Given the description of an element on the screen output the (x, y) to click on. 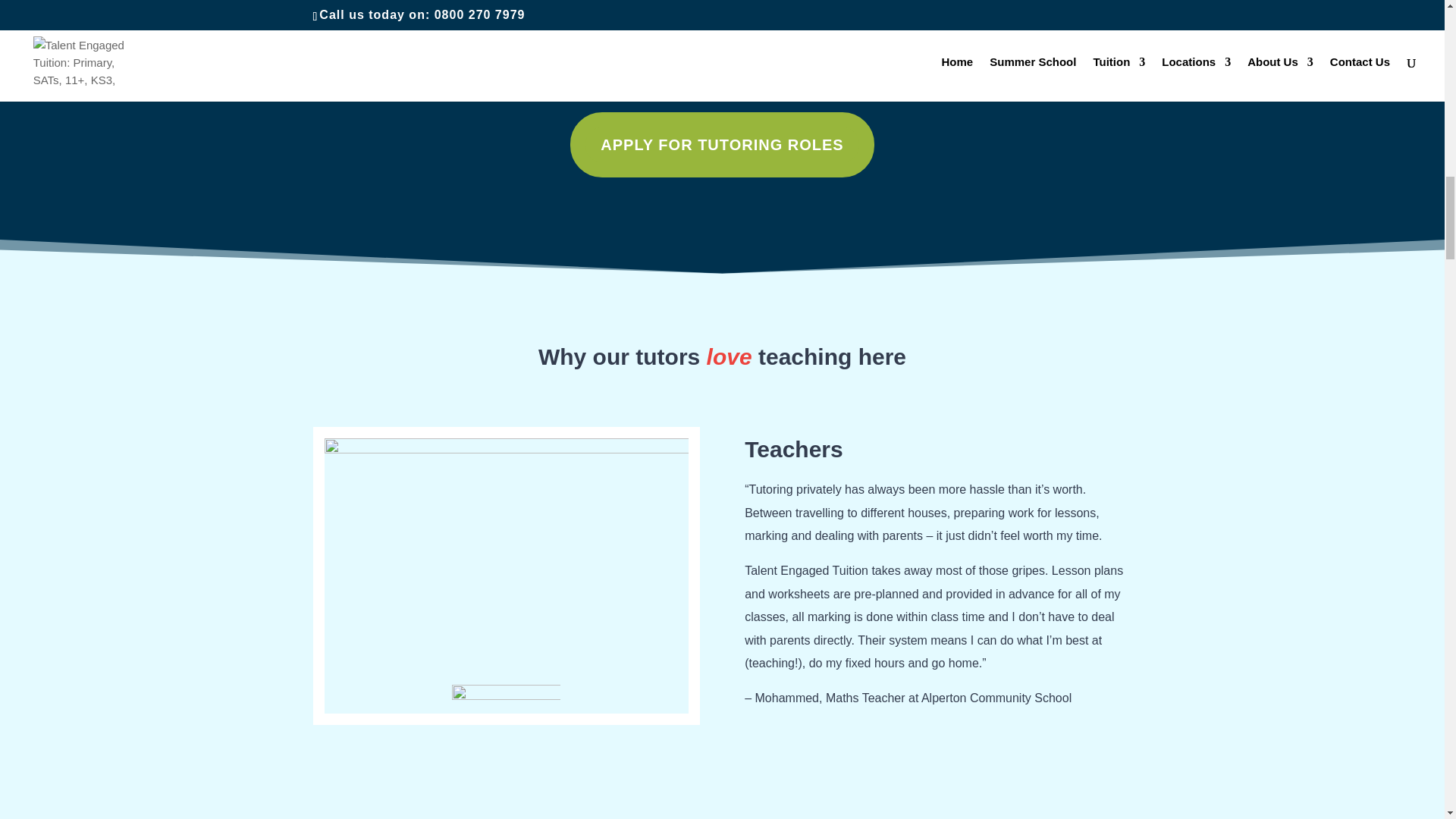
APPLY FOR TUTORING ROLES (721, 144)
